Given the description of an element on the screen output the (x, y) to click on. 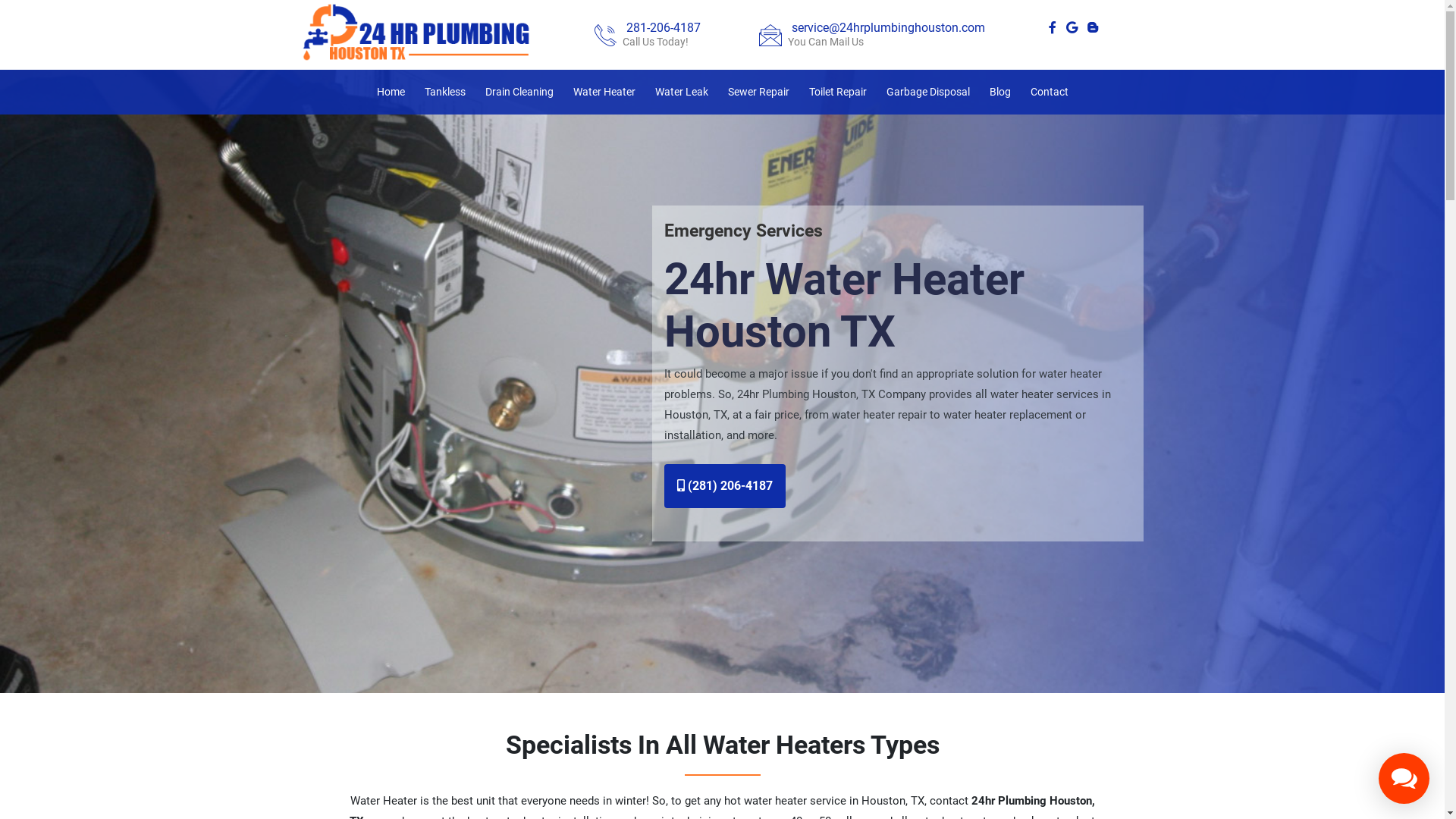
service@24hrplumbinghouston.com Element type: text (888, 27)
Blog Element type: text (999, 91)
Sewer Repair Element type: text (758, 91)
Contact Element type: text (1048, 91)
(281) 206-4187 Element type: text (724, 486)
281-206-4187 Element type: text (663, 27)
Garbage Disposal Element type: text (927, 91)
Tankless Element type: text (444, 91)
Toilet Repair Element type: text (837, 91)
Water Heater Element type: text (604, 91)
Home Element type: text (390, 91)
Company Logo Element type: hover (423, 32)
Water Leak Element type: text (681, 91)
Drain Cleaning Element type: text (519, 91)
